Given the description of an element on the screen output the (x, y) to click on. 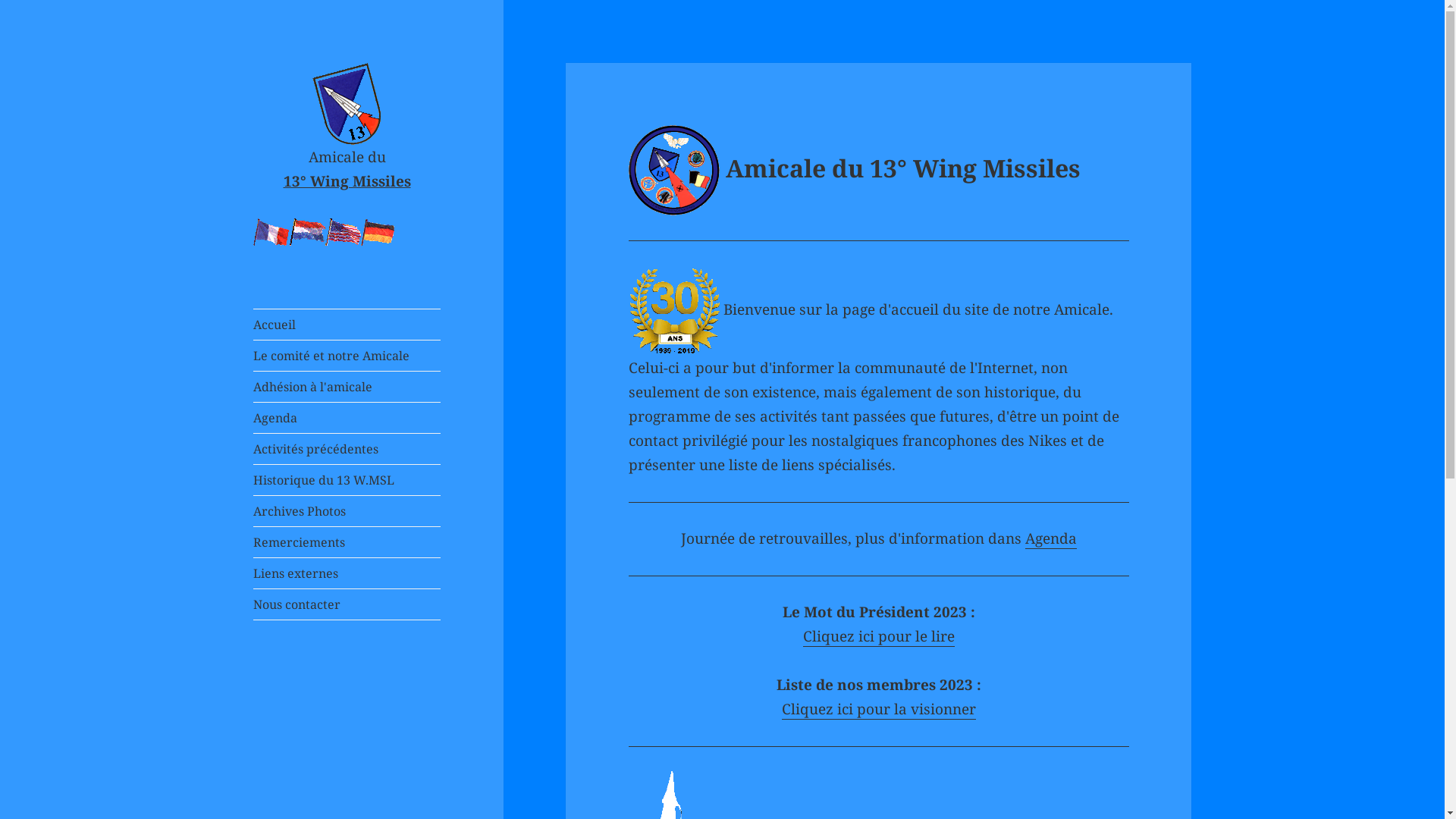
Historique du 13 W.MSL Element type: text (347, 479)
Agenda Element type: text (347, 417)
logo_amicale_8kd Element type: hover (673, 170)
Archives Photos Element type: text (347, 510)
Remerciements Element type: text (347, 542)
Cliquez ici pour la visionner Element type: text (878, 709)
Cliquez ici pour le lire Element type: text (878, 636)
logo_30_ans_5k Element type: hover (673, 310)
Accueil Element type: text (347, 324)
Liens externes Element type: text (347, 573)
Nous contacter Element type: text (347, 604)
Agenda Element type: text (1050, 538)
